Given the description of an element on the screen output the (x, y) to click on. 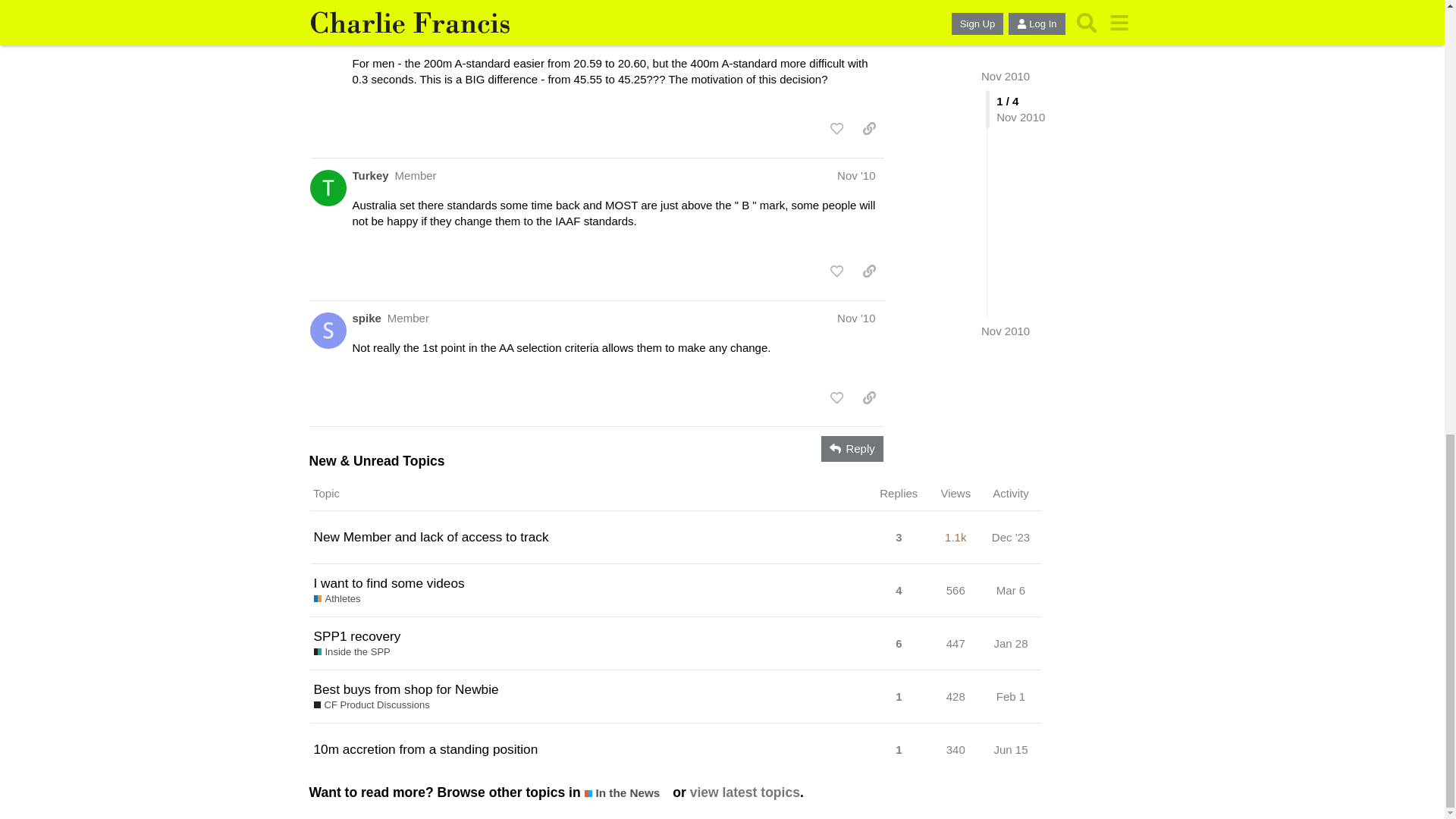
Nov '10 (856, 318)
Turkey (370, 175)
Nov '10 (856, 6)
spike (366, 317)
Nov '10 (856, 174)
